Given the description of an element on the screen output the (x, y) to click on. 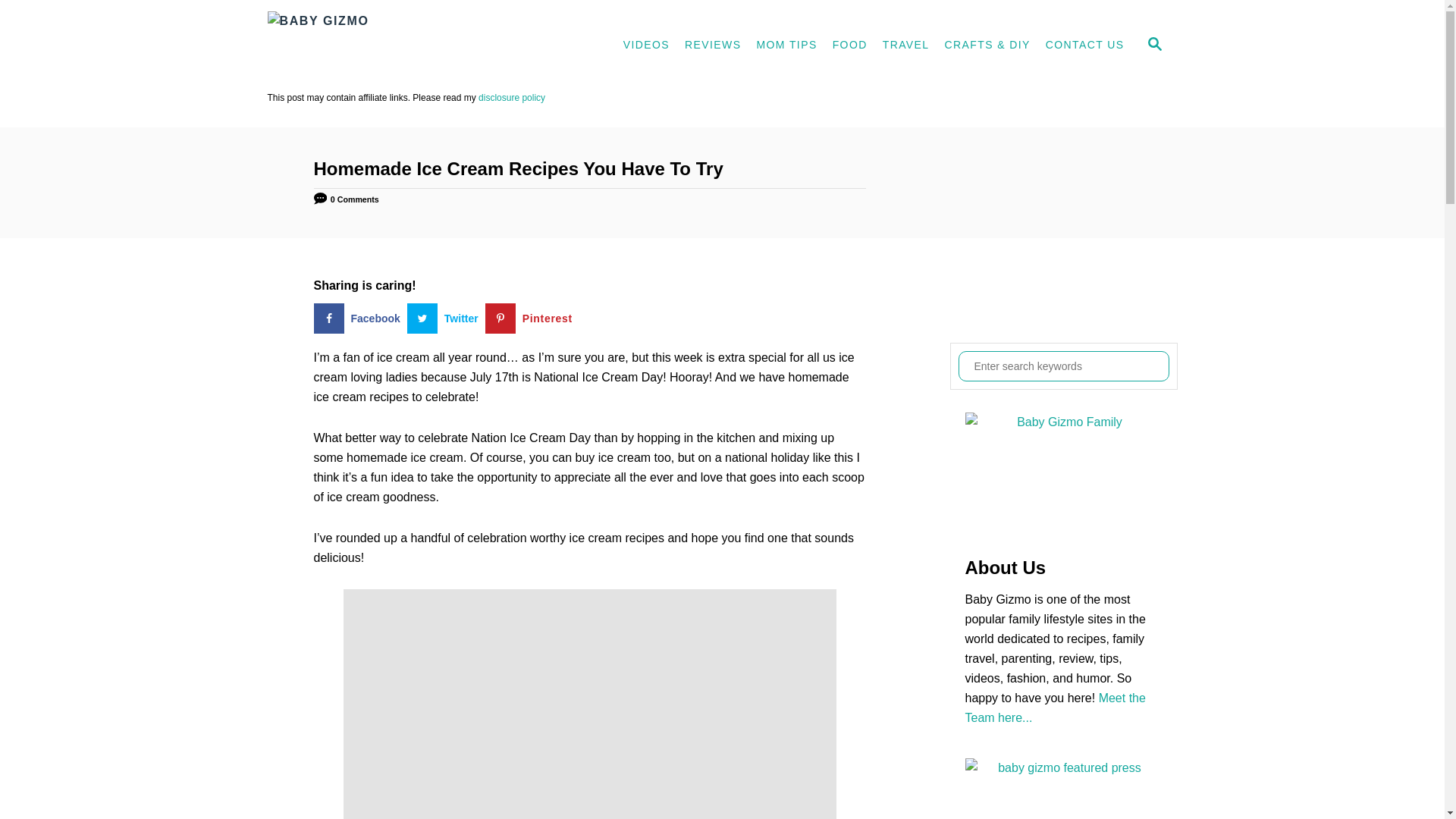
Share on Twitter (445, 318)
SEARCH (1153, 45)
Save to Pinterest (531, 318)
FOOD (850, 45)
Travel Reviews (906, 45)
Share on Facebook (360, 318)
REVIEWS (712, 45)
Baby Gizmo (403, 45)
MOM TIPS (786, 45)
Product Reviews (712, 45)
